Given the description of an element on the screen output the (x, y) to click on. 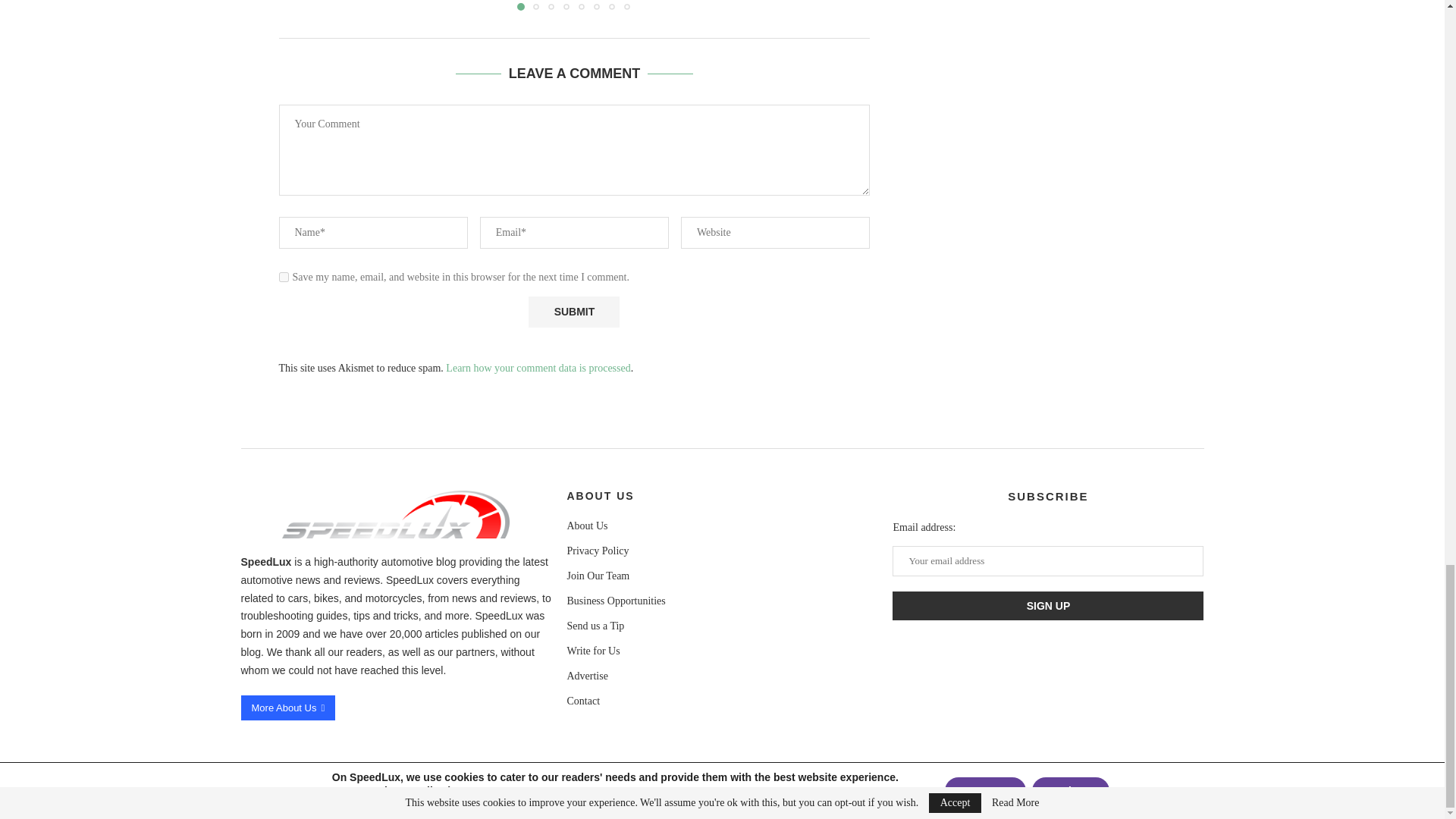
Submit (574, 311)
Sign up (1048, 605)
yes (283, 276)
